Given the description of an element on the screen output the (x, y) to click on. 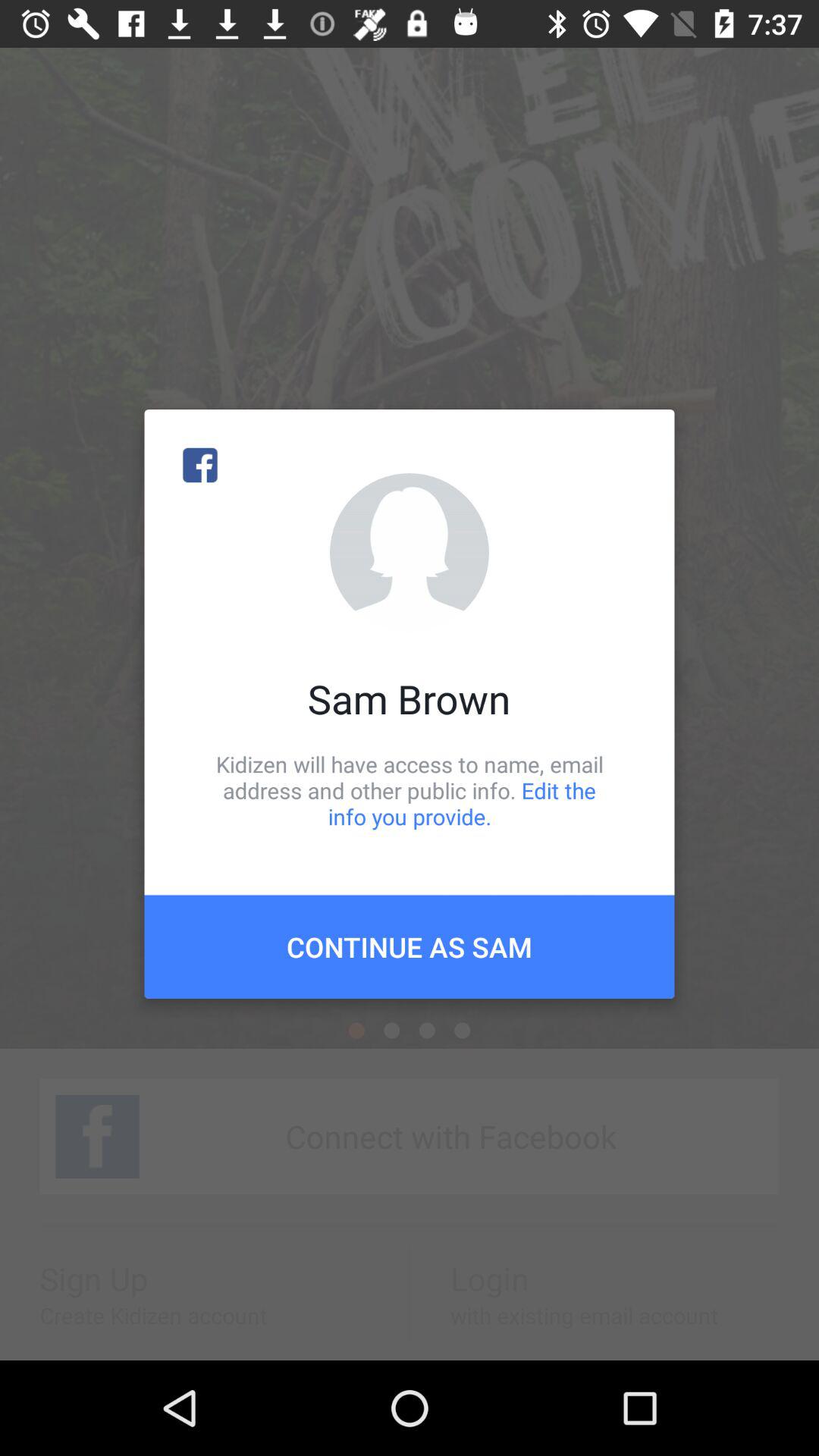
launch the item above the continue as sam item (409, 790)
